Given the description of an element on the screen output the (x, y) to click on. 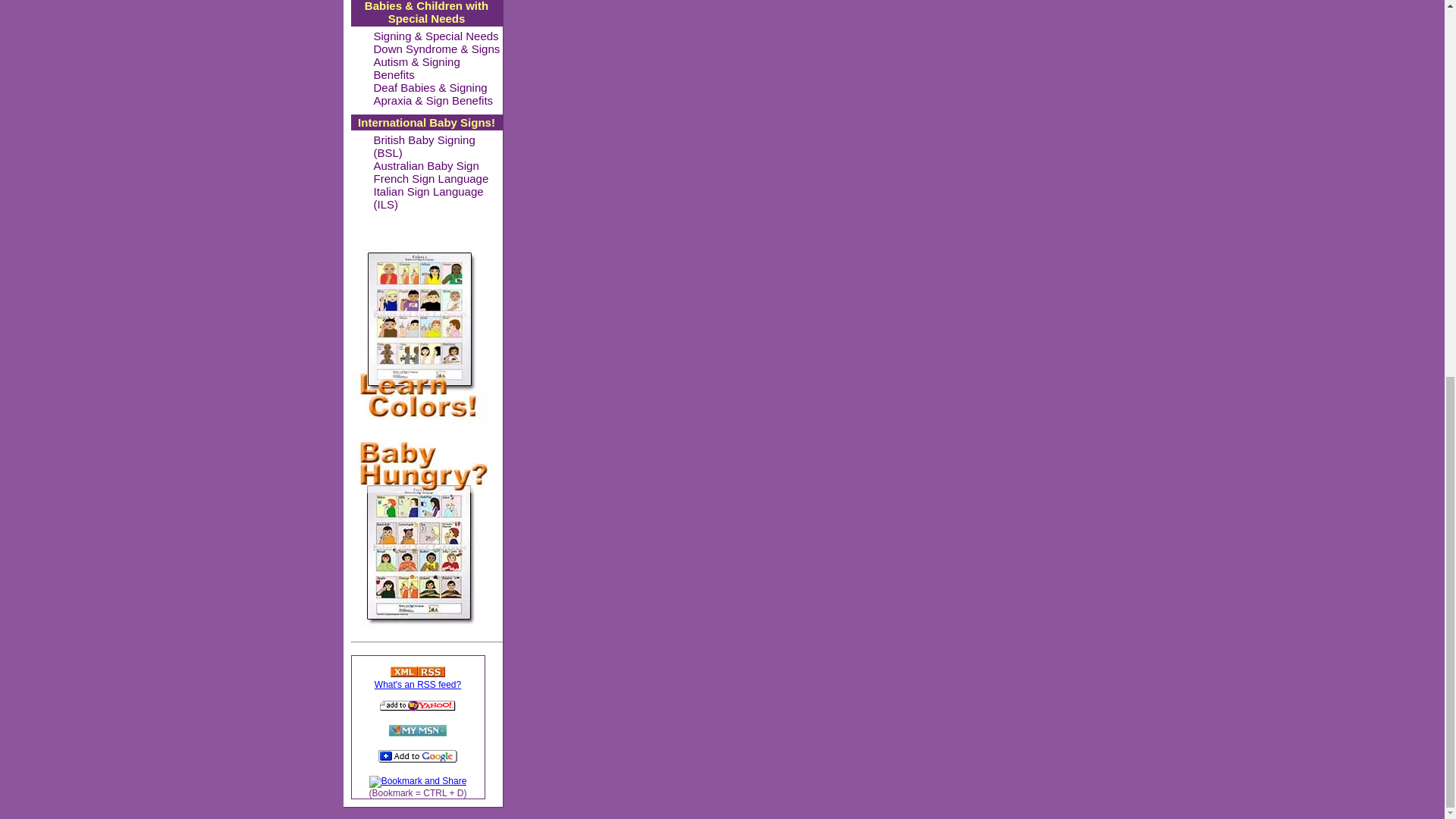
Australian Baby Sign (425, 165)
French Sign Language (429, 178)
